Given the description of an element on the screen output the (x, y) to click on. 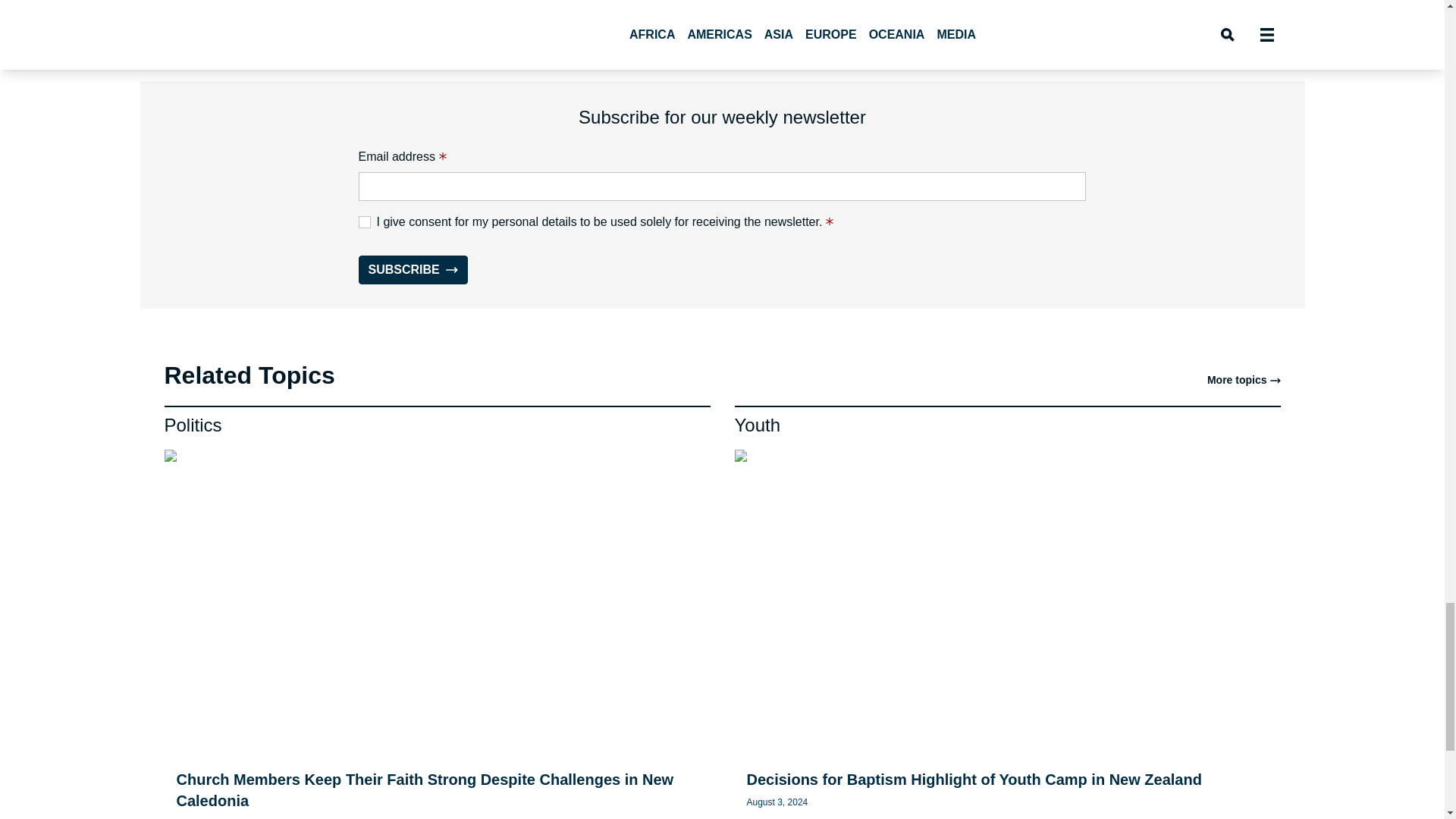
Required (829, 221)
SUBSCRIBE (412, 269)
Decisions for Baptism Highlight of Youth Camp in New Zealand (973, 779)
More topics (1244, 379)
Required (442, 155)
